Given the description of an element on the screen output the (x, y) to click on. 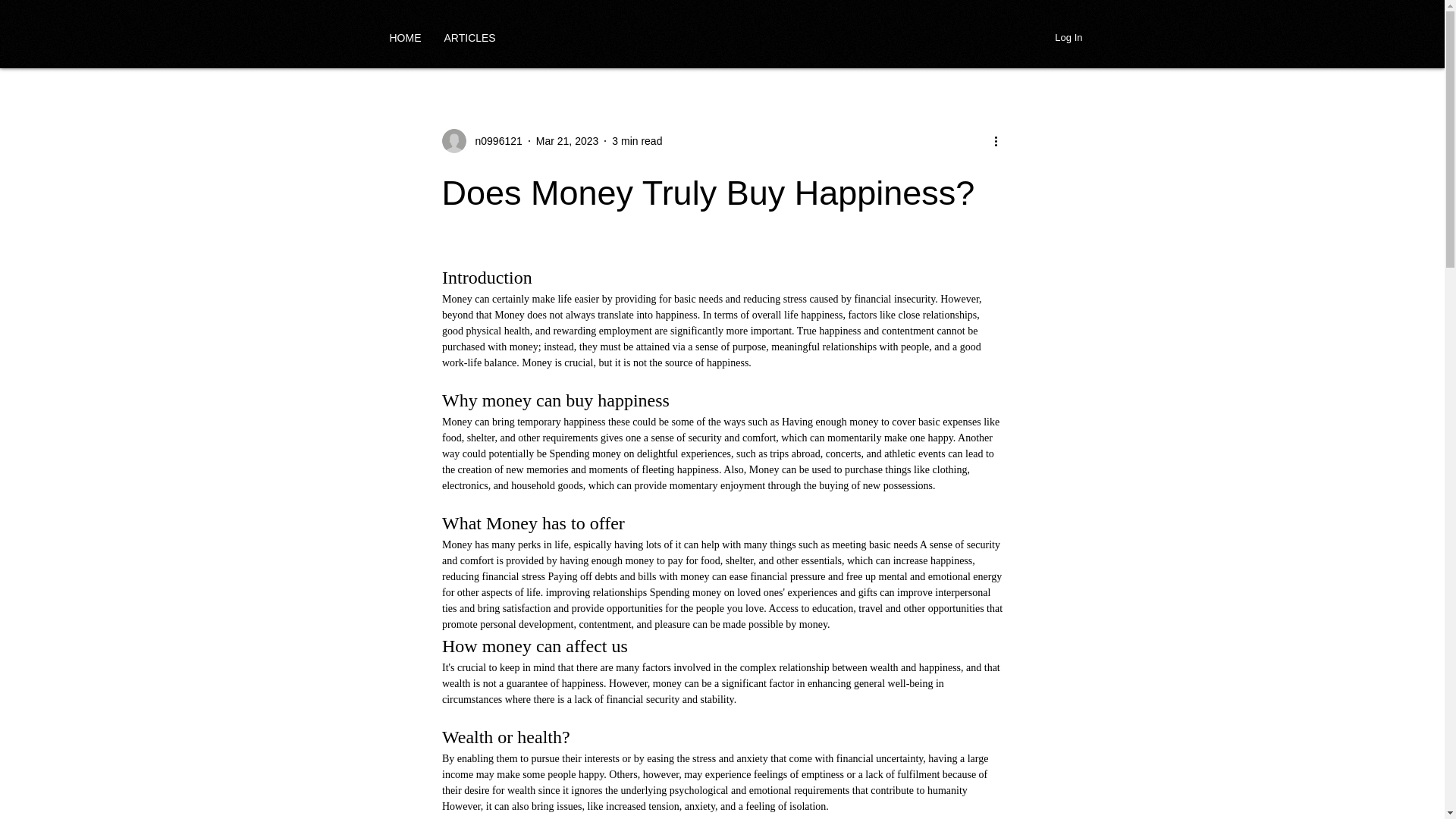
3 min read (636, 141)
n0996121 (493, 141)
Log In (1068, 37)
n0996121 (481, 140)
Mar 21, 2023 (566, 141)
HOME (404, 37)
ARTICLES (468, 37)
